Given the description of an element on the screen output the (x, y) to click on. 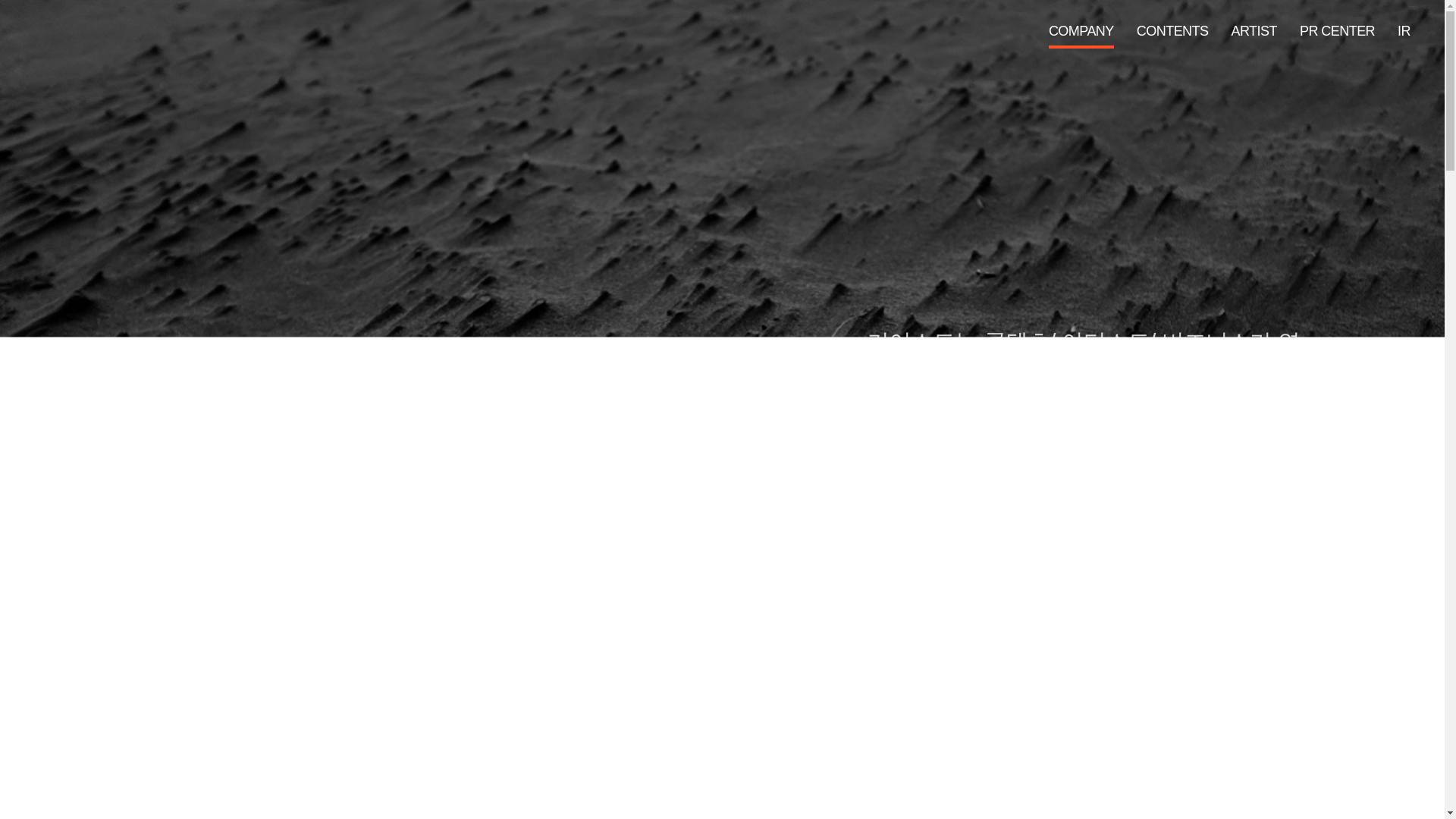
COMPANY (1080, 30)
CONTENTS (1172, 30)
PR CENTER (1337, 30)
ARTIST (1253, 30)
